Given the description of an element on the screen output the (x, y) to click on. 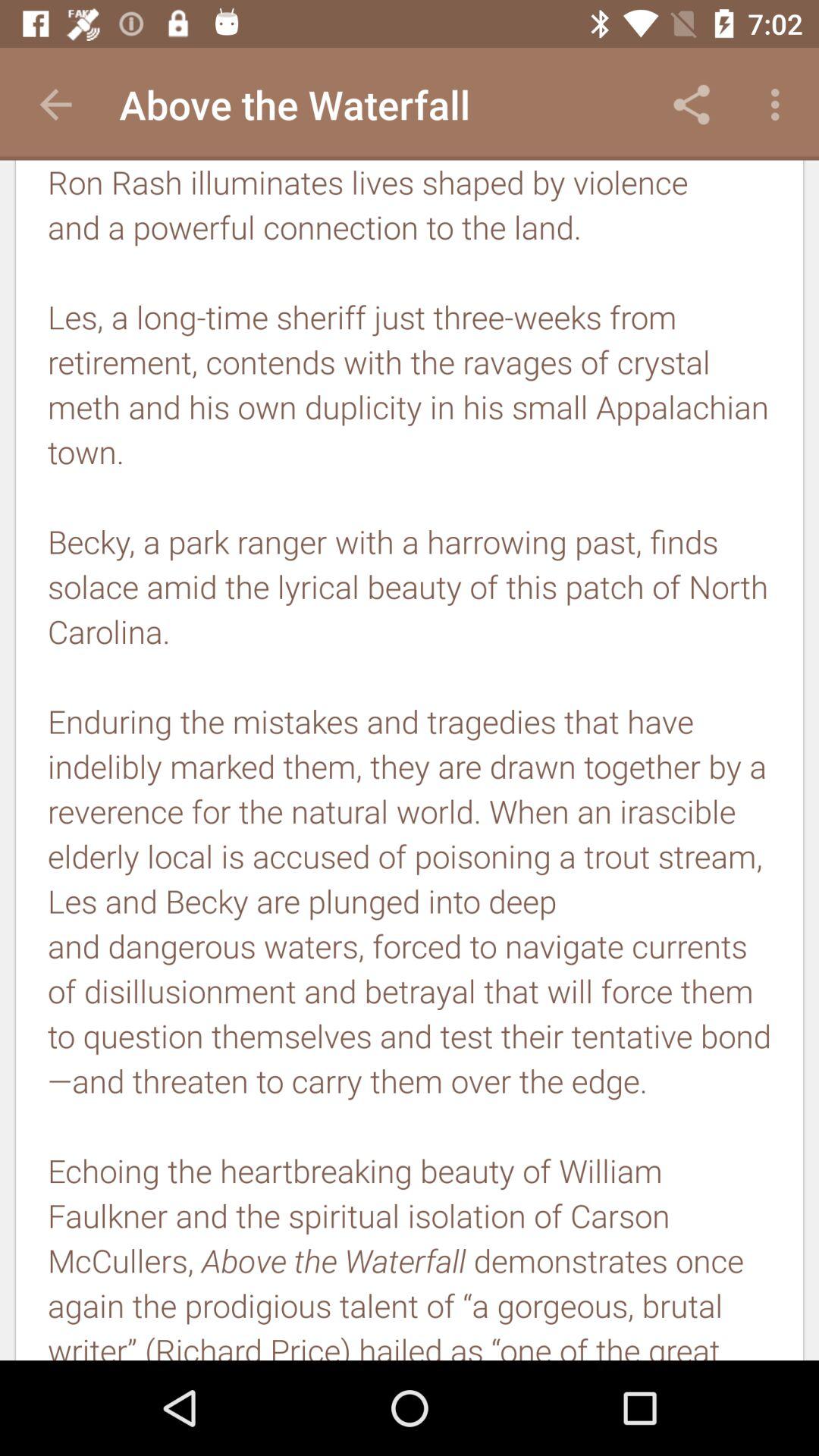
choose app next to above the waterfall (691, 104)
